Given the description of an element on the screen output the (x, y) to click on. 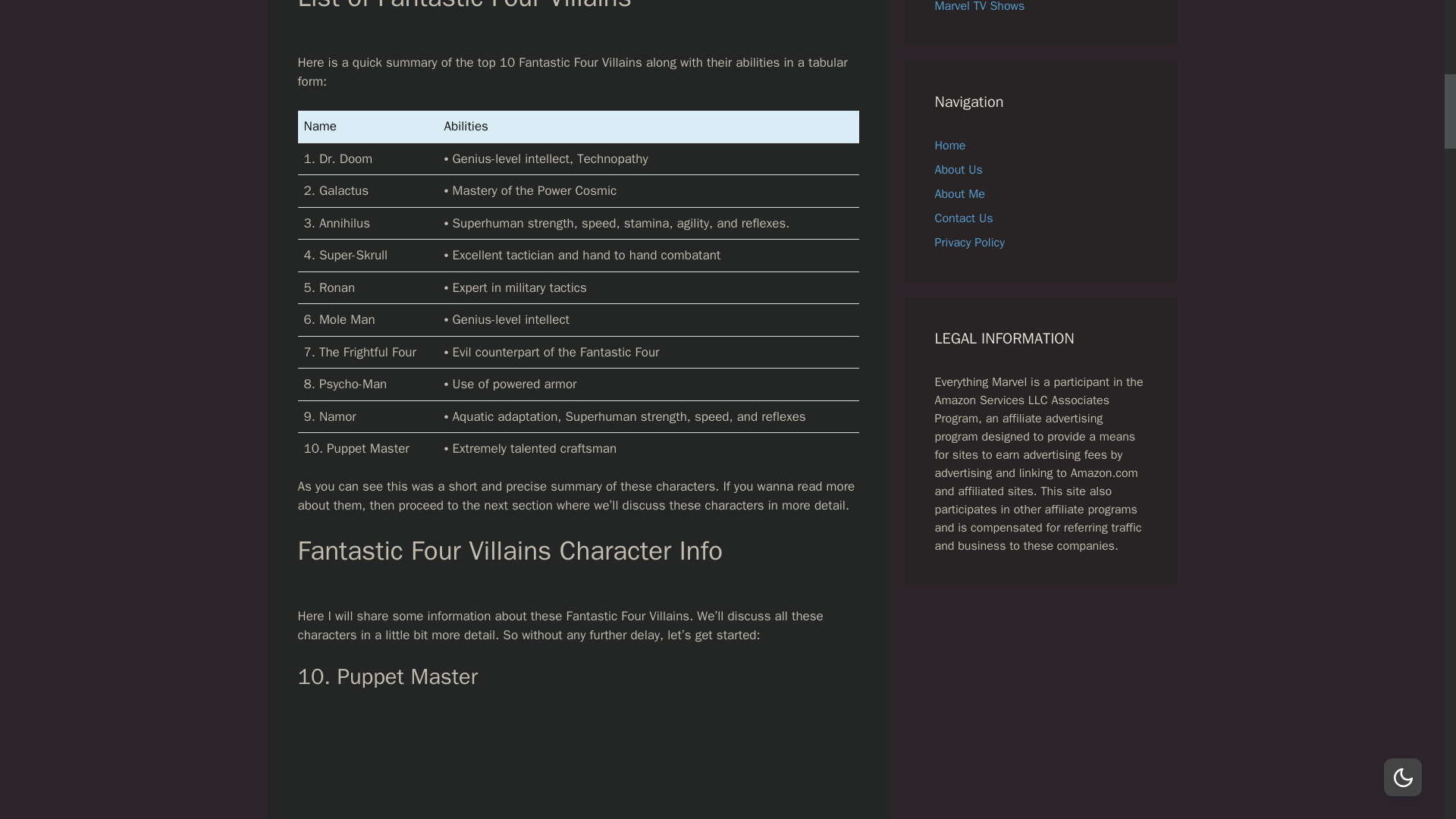
About Me (959, 193)
Marvel TV Shows (979, 6)
Home (949, 145)
Contact Us (963, 218)
Privacy Policy (969, 242)
About Us (957, 169)
